Given the description of an element on the screen output the (x, y) to click on. 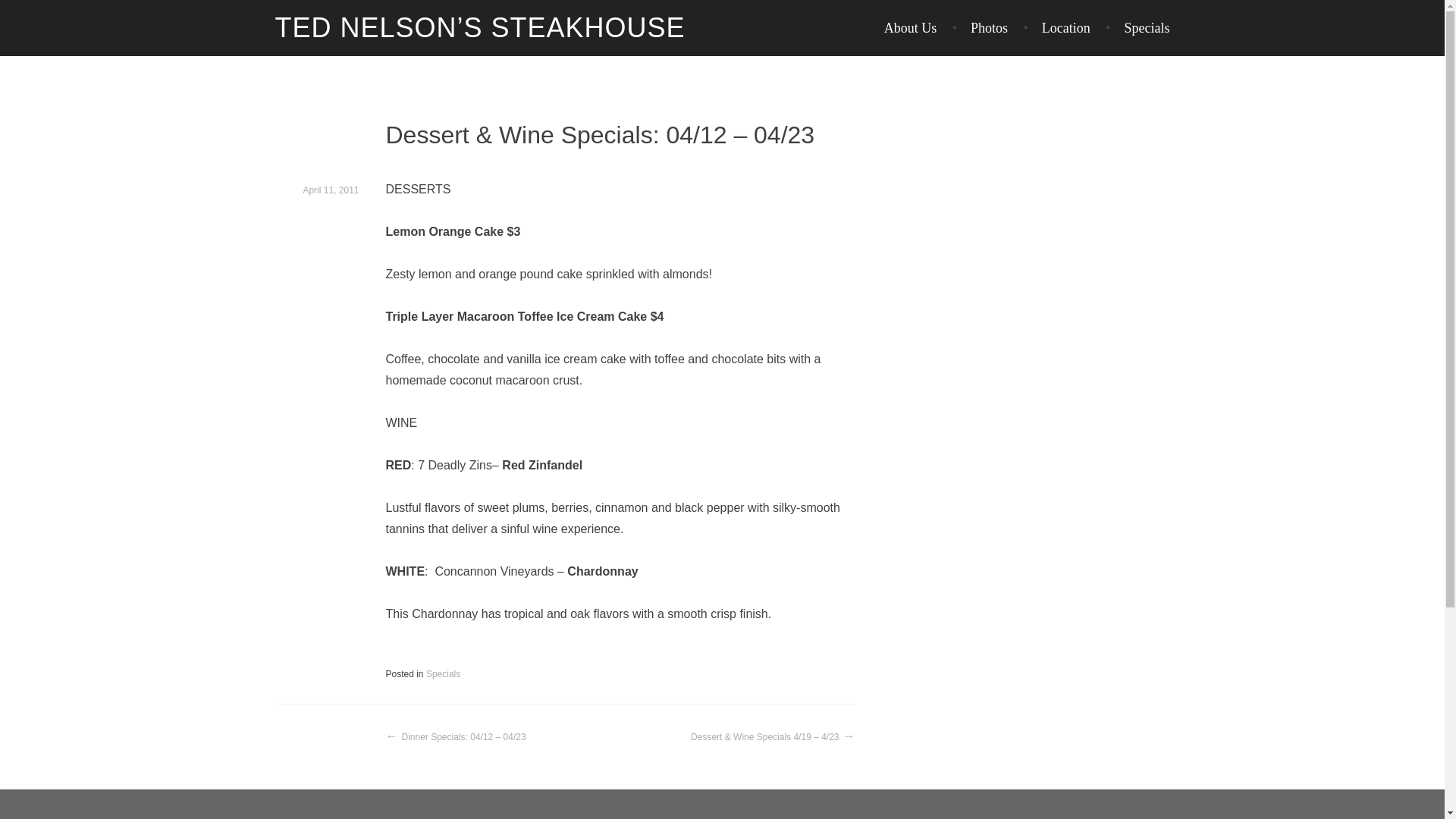
Specials (443, 674)
Specials (1137, 28)
Photos (979, 28)
April 11, 2011 (330, 190)
About Us (910, 28)
Location (1056, 28)
